Given the description of an element on the screen output the (x, y) to click on. 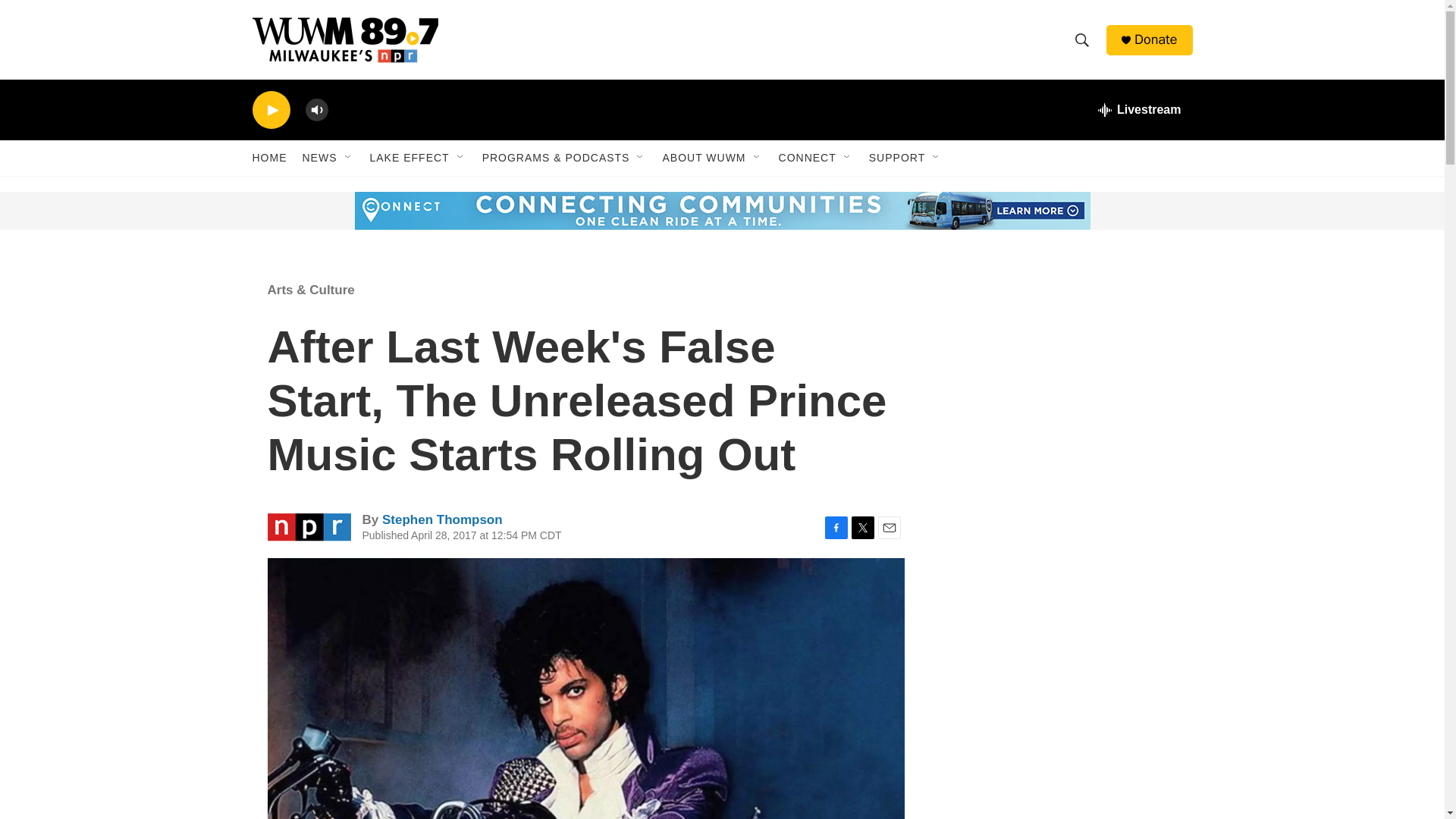
3rd party ad content (1062, 370)
3rd party ad content (1062, 785)
3rd party ad content (367, 210)
3rd party ad content (1062, 608)
